Given the description of an element on the screen output the (x, y) to click on. 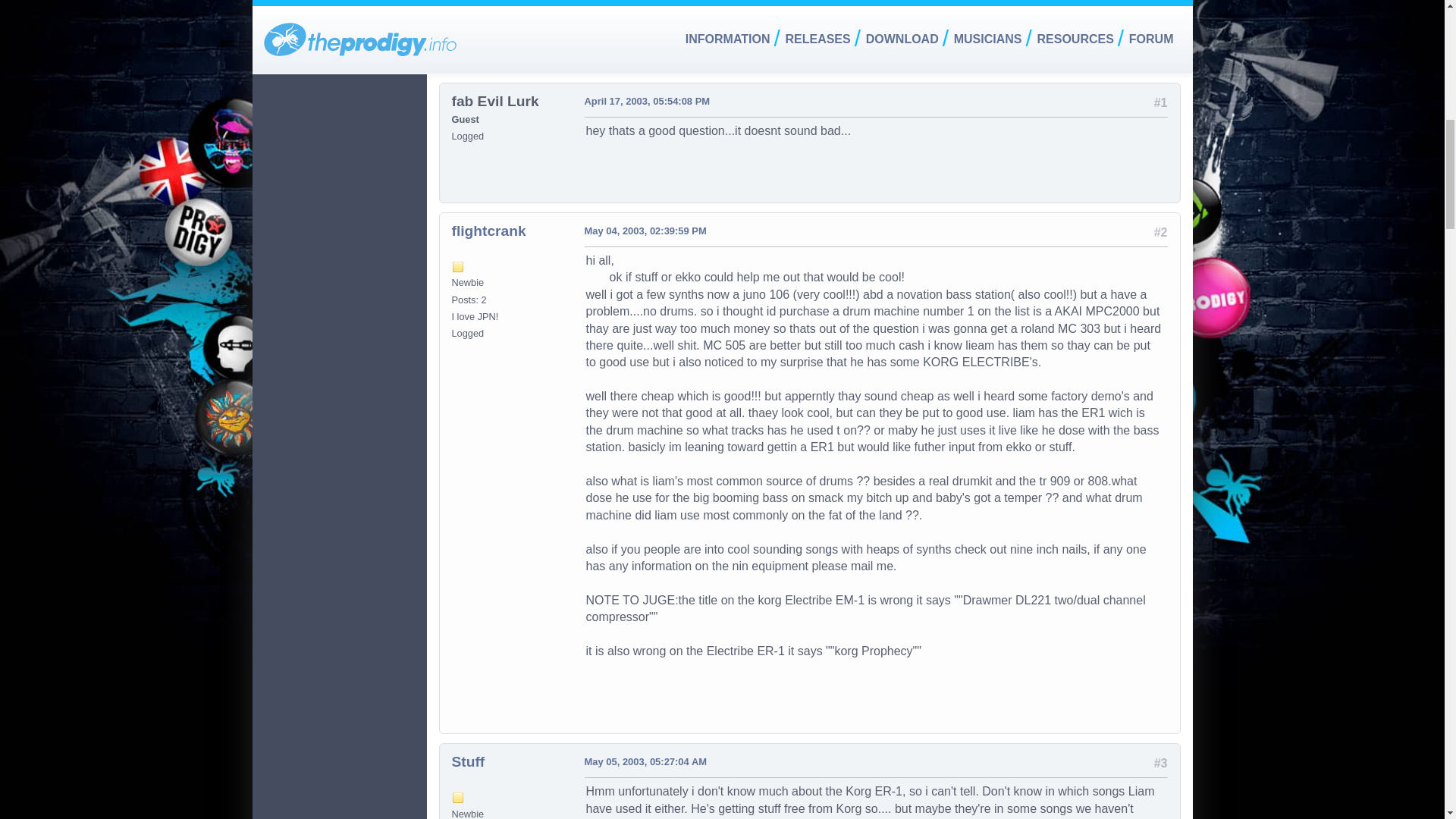
View the profile of Stuff (467, 761)
View the profile of flightcrank (488, 230)
